Given the description of an element on the screen output the (x, y) to click on. 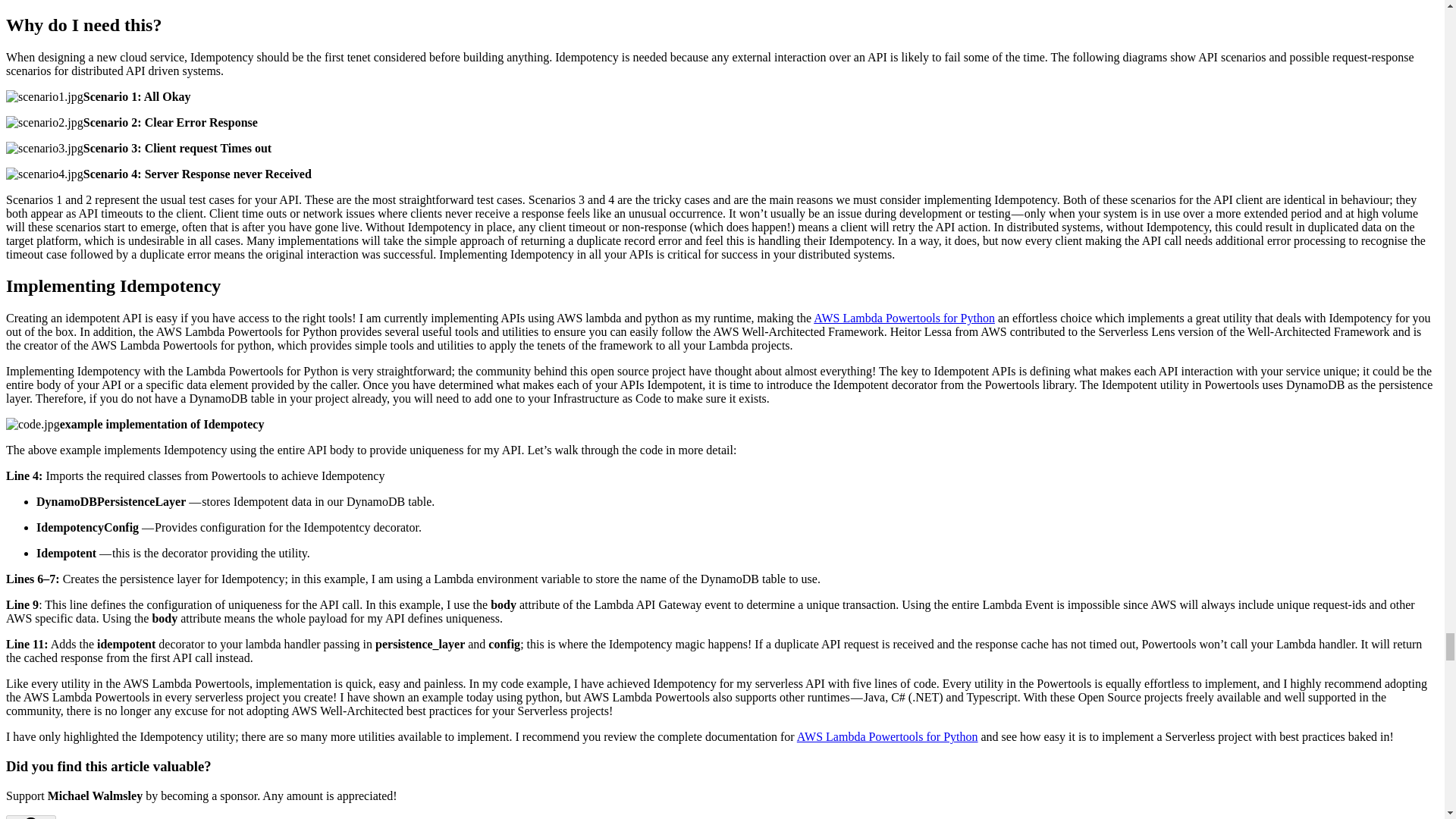
Sponsor (30, 816)
AWS Lambda Powertools for Python (887, 736)
AWS Lambda Powertools for Python (903, 318)
